Given the description of an element on the screen output the (x, y) to click on. 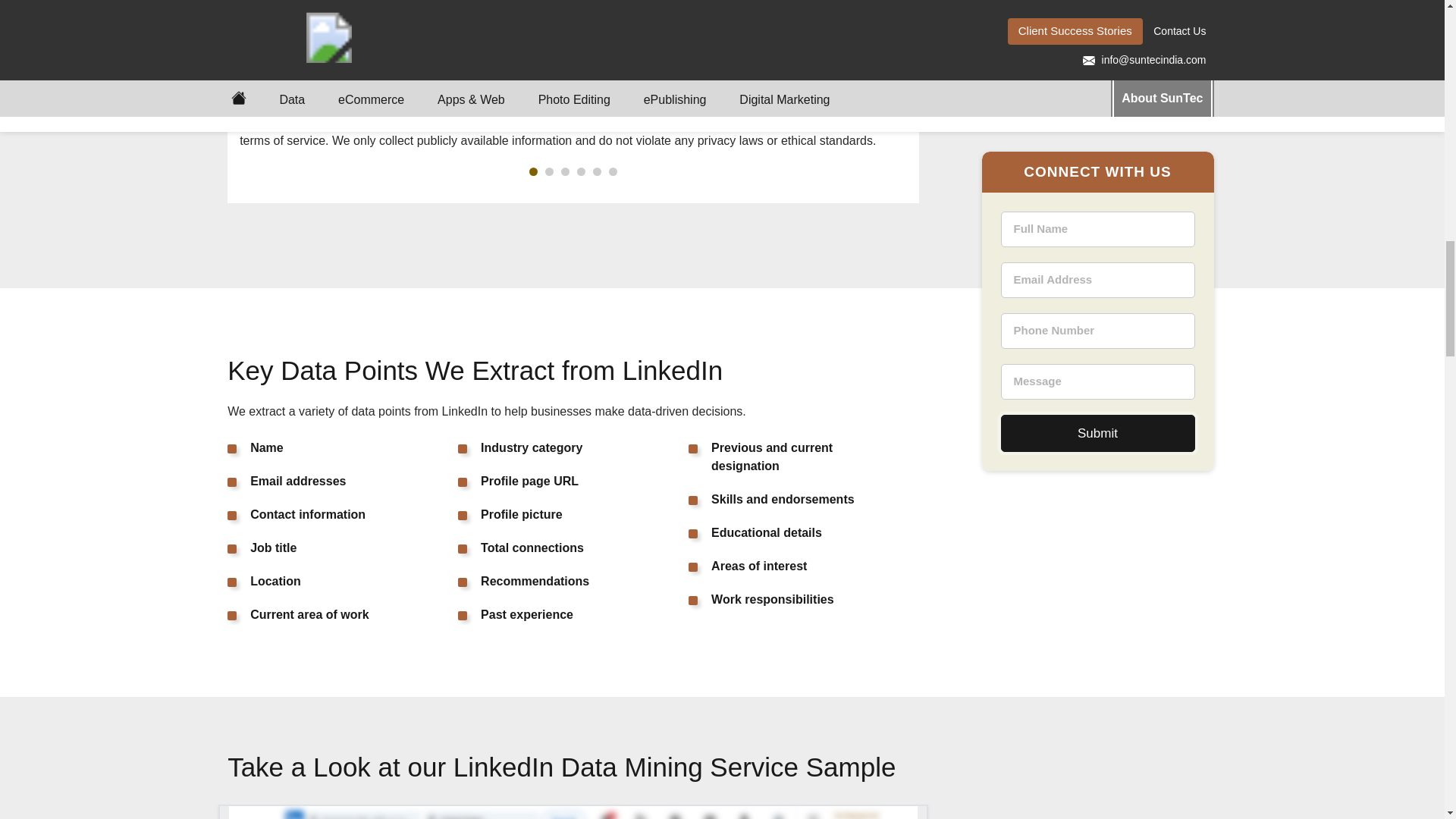
Submit (1098, 4)
